Given the description of an element on the screen output the (x, y) to click on. 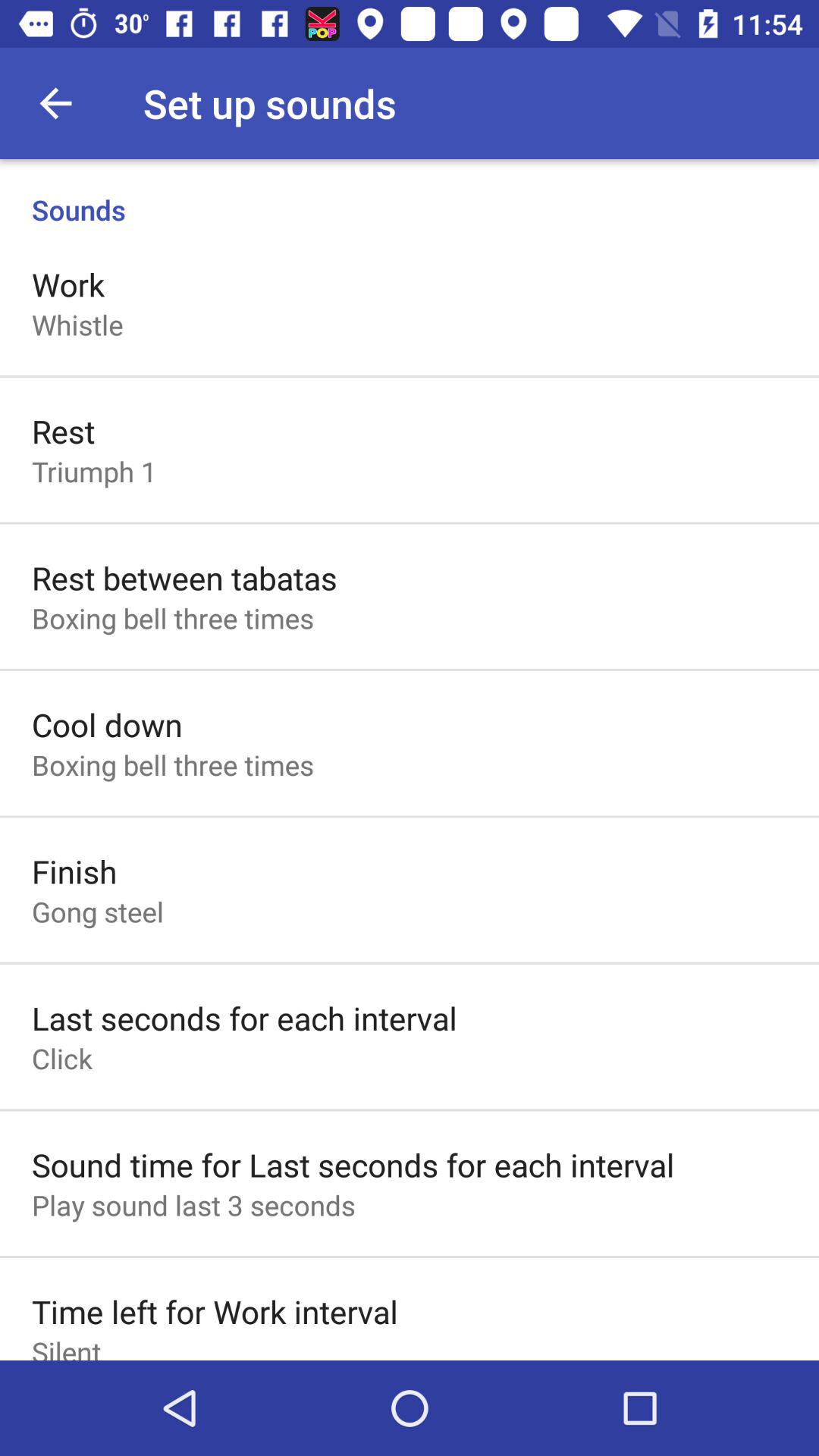
launch the whistle (77, 324)
